Given the description of an element on the screen output the (x, y) to click on. 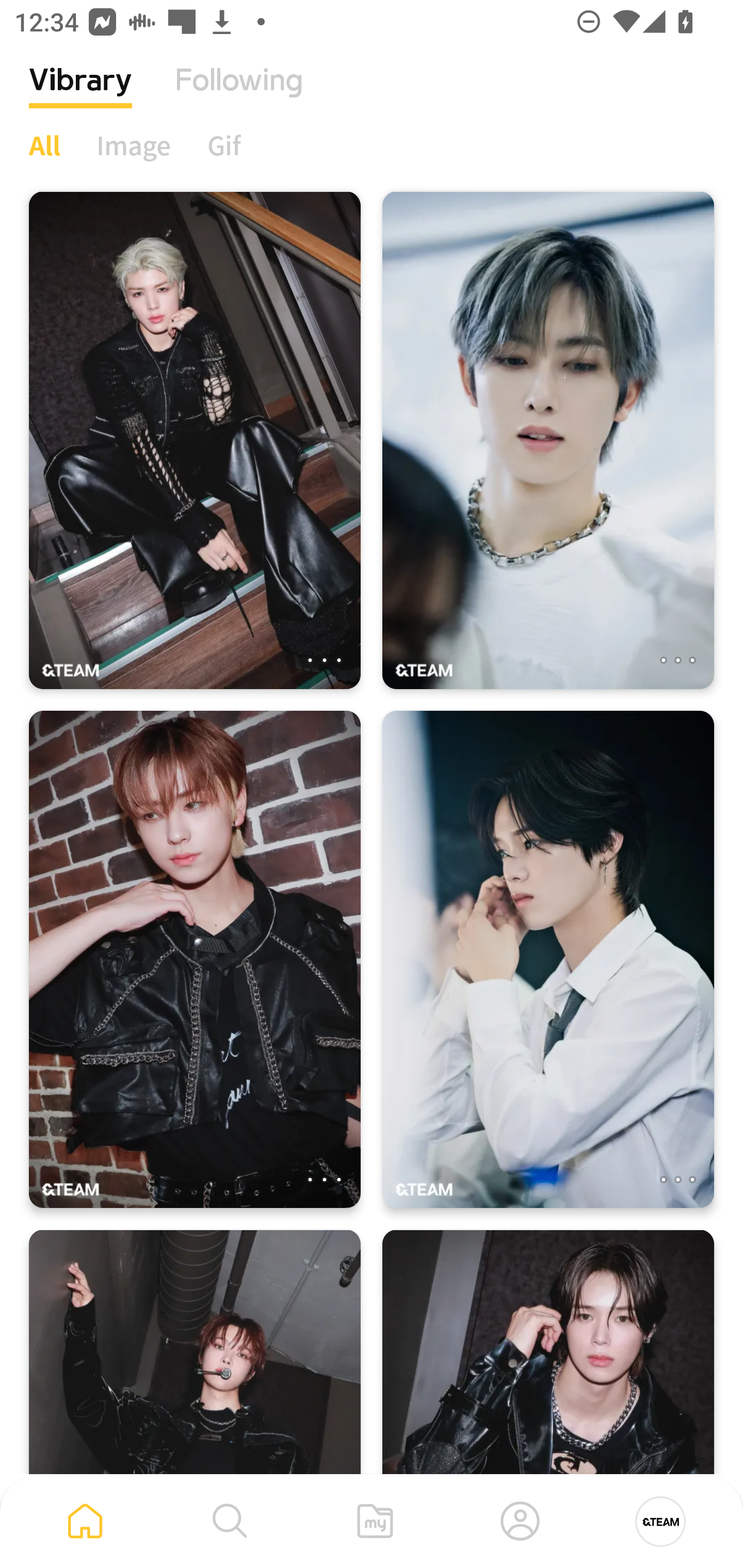
Vibrary (80, 95)
Following (239, 95)
All (44, 145)
Image (133, 145)
Gif (223, 145)
